Given the description of an element on the screen output the (x, y) to click on. 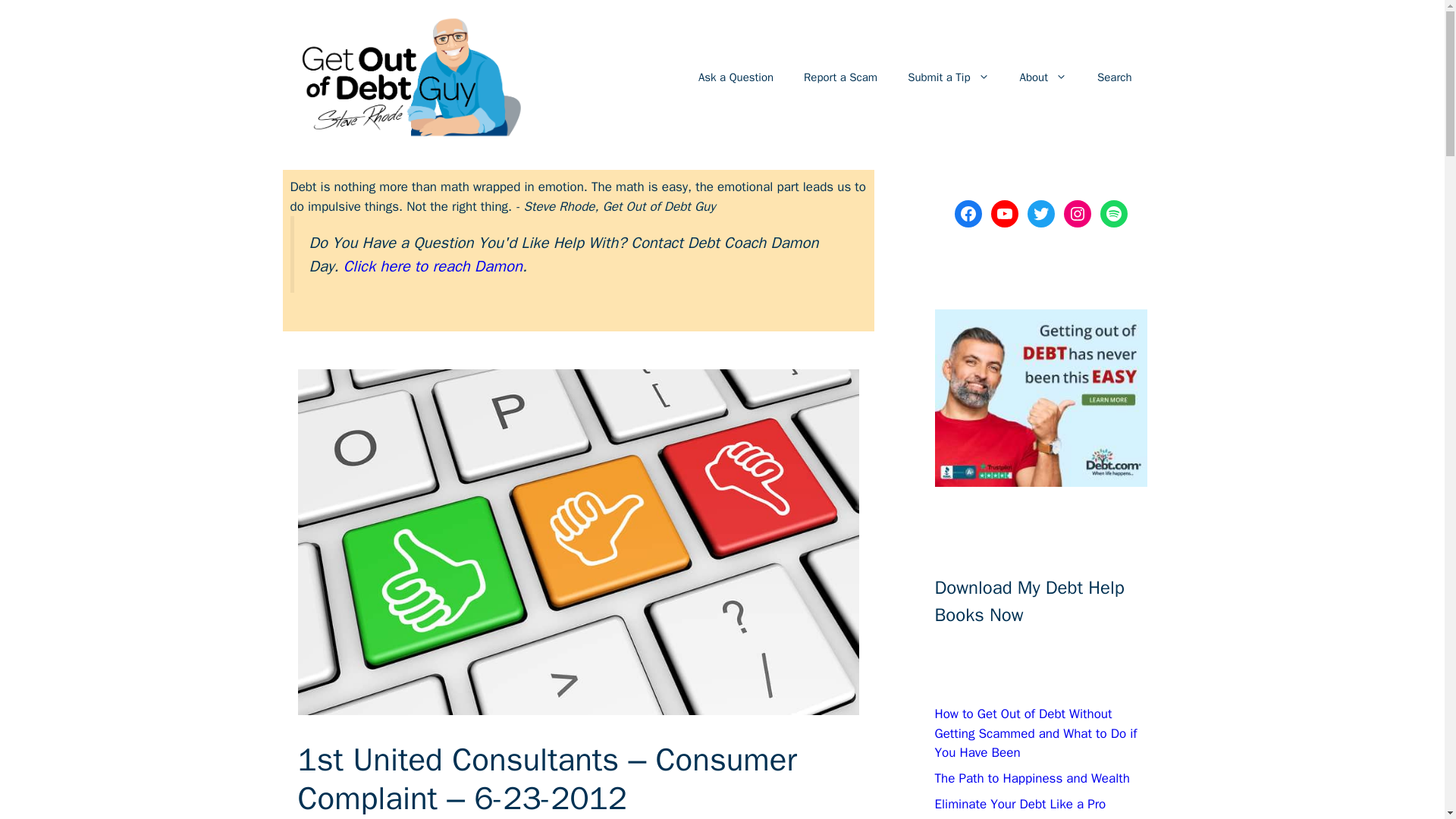
Search (1114, 76)
Submit a Tip (948, 76)
Click here to reach Damon (432, 266)
Ask a Question (735, 76)
About (1042, 76)
Report a Scam (840, 76)
